Given the description of an element on the screen output the (x, y) to click on. 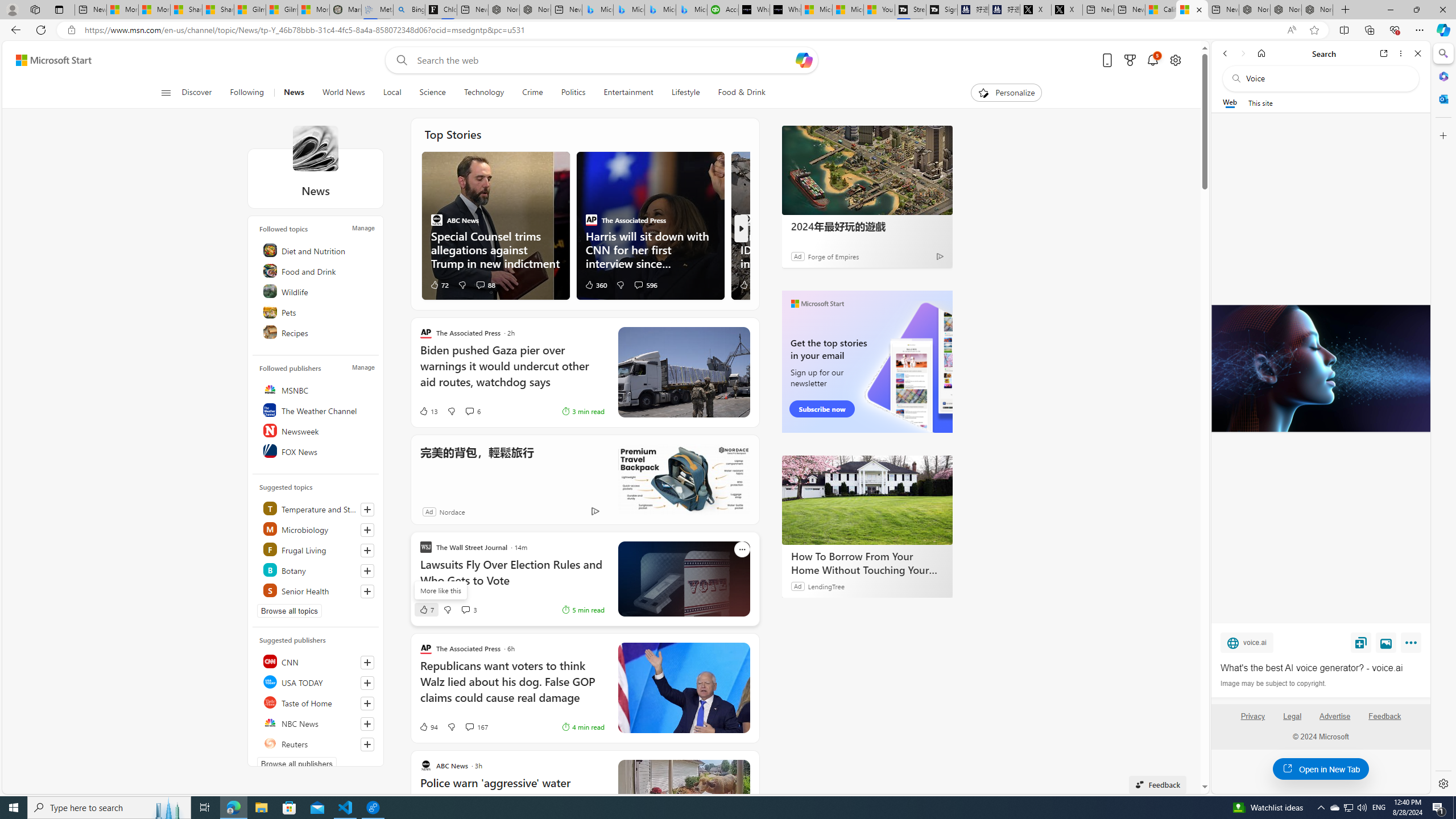
View comments 167 Comment (469, 726)
Open settings (1175, 60)
World News (343, 92)
Open navigation menu (164, 92)
How To Borrow From Your Home Without Touching Your Mortgage (866, 562)
View comments 596 Comment (638, 284)
Search the web (1326, 78)
View comments 3 Comment (468, 609)
LendingTree (826, 586)
